Given the description of an element on the screen output the (x, y) to click on. 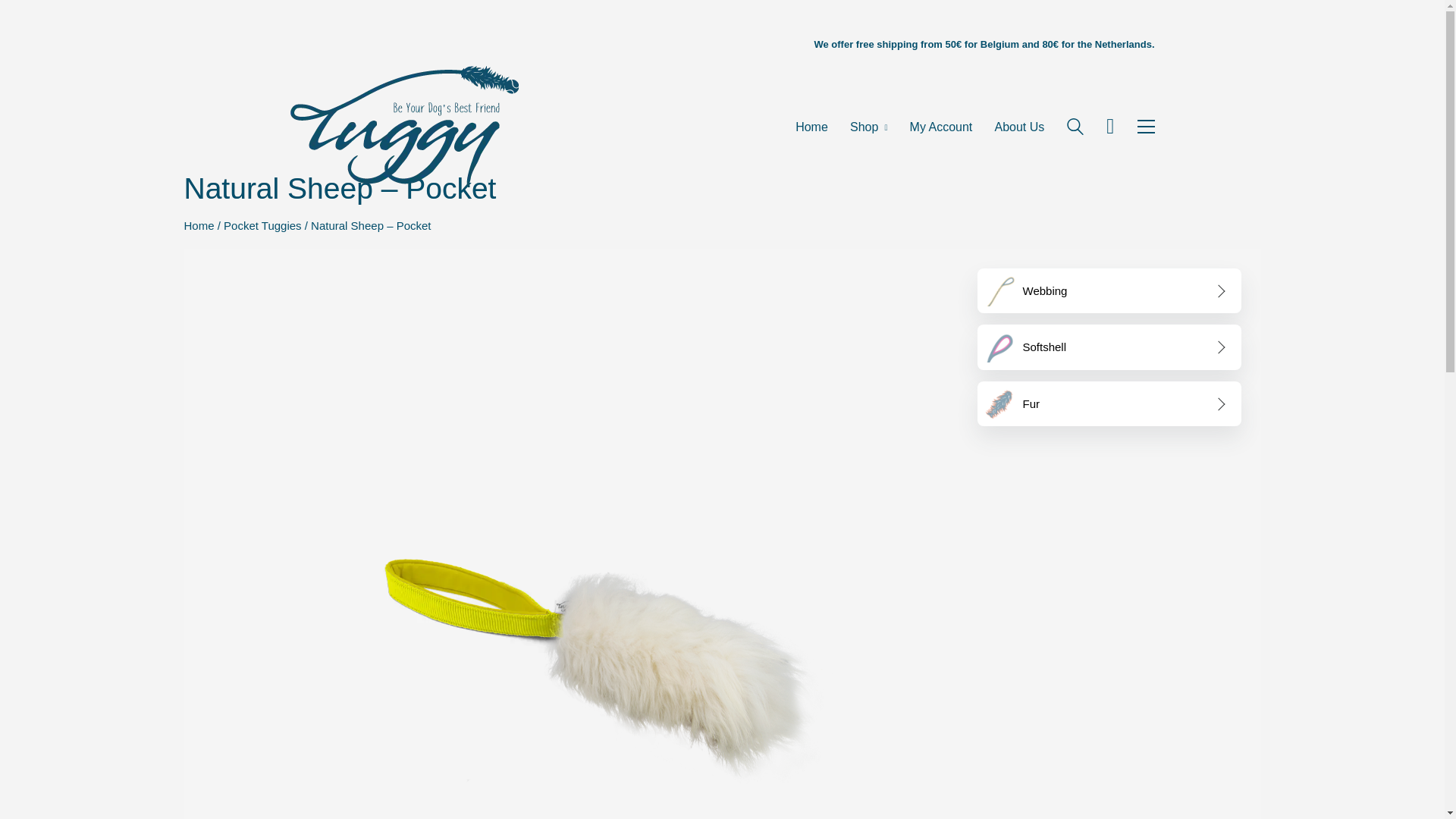
Pocket Tuggies (262, 225)
Webbing (1108, 290)
Subscribe (1254, 538)
About Us (1018, 126)
Home (811, 126)
Home (198, 225)
My Account (941, 126)
Shop (868, 126)
